Given the description of an element on the screen output the (x, y) to click on. 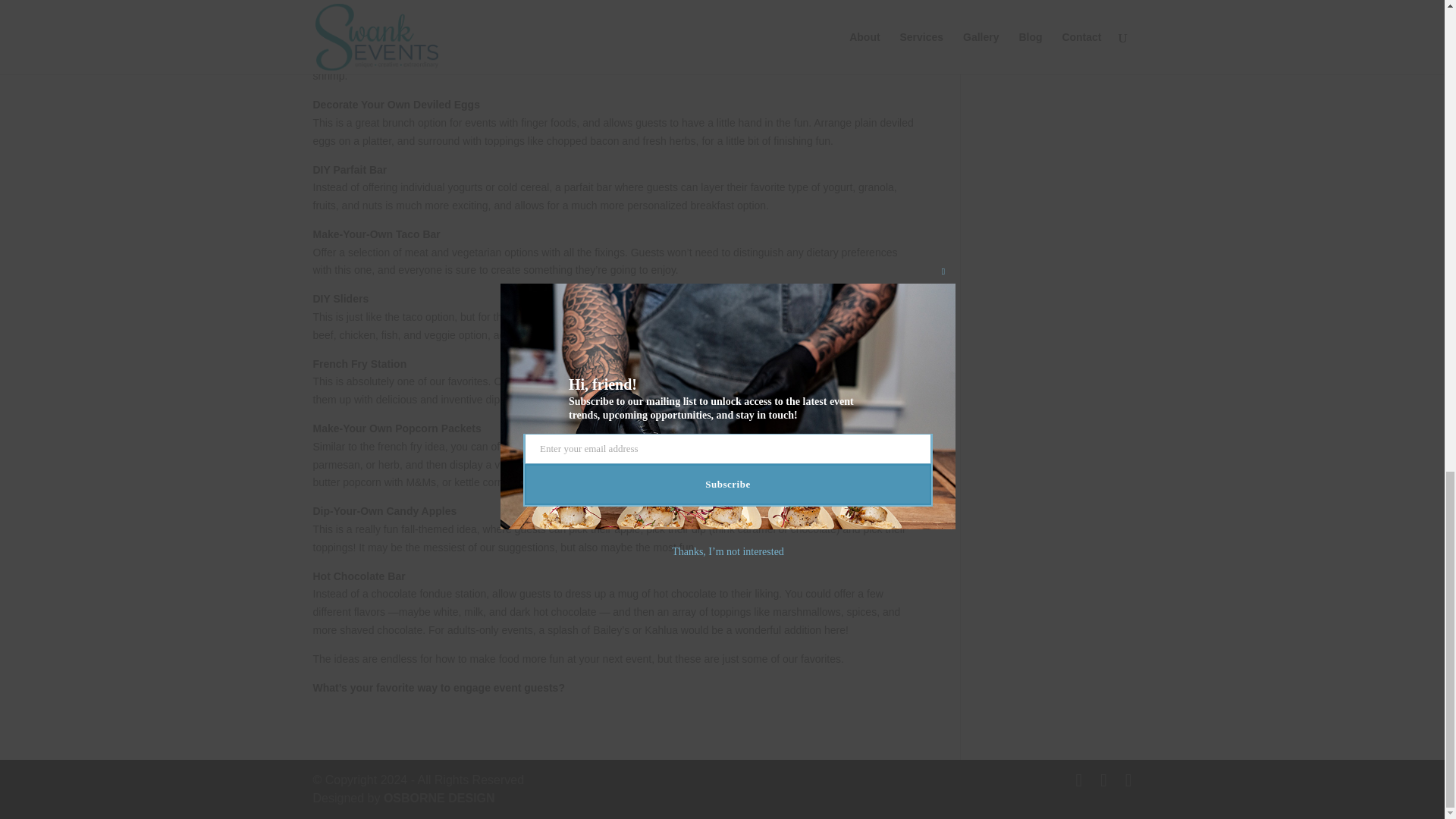
OSBORNE DESIGN (439, 797)
